Given the description of an element on the screen output the (x, y) to click on. 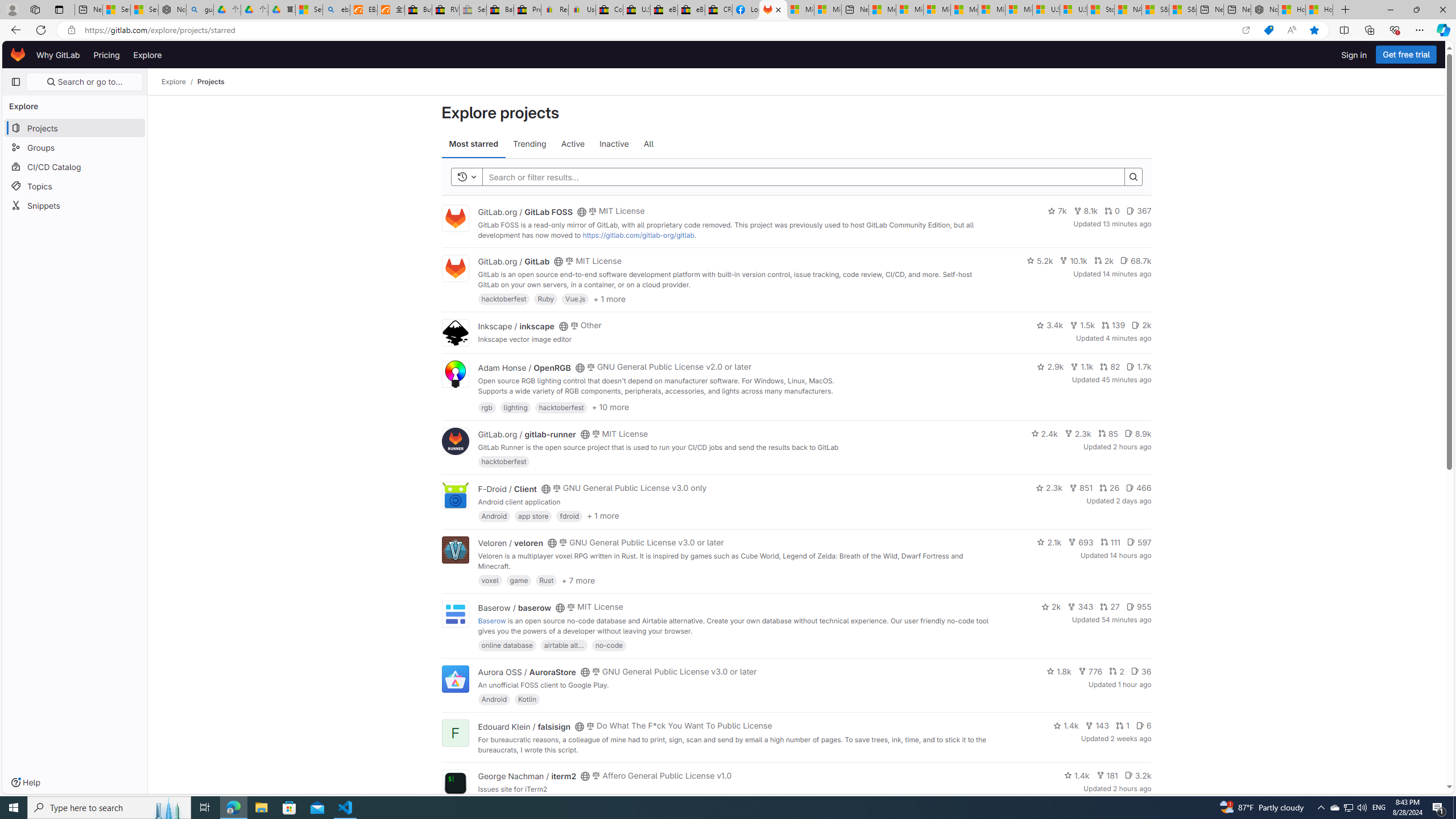
82 (1110, 366)
+ 1 more (602, 515)
Explore (146, 54)
Edouard Klein / falsisign (523, 726)
Baby Keepsakes & Announcements for sale | eBay (499, 9)
1.7k (1138, 366)
8.1k (1085, 210)
+ 10 more (610, 407)
Veloren / veloren (510, 542)
2 (1116, 671)
